Given the description of an element on the screen output the (x, y) to click on. 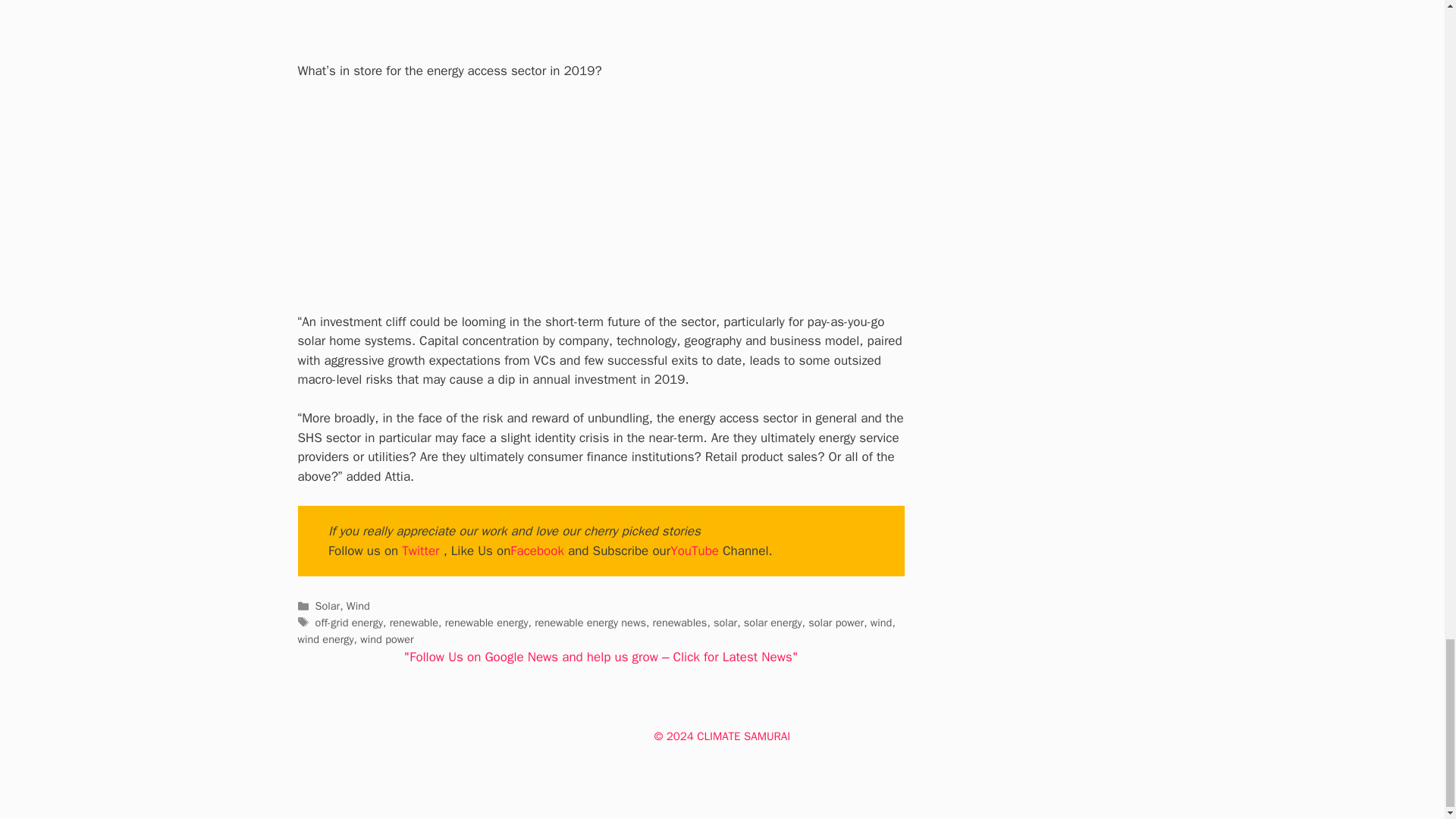
Wind (357, 605)
renewable energy (486, 622)
YouTube (694, 550)
Advertisement (618, 30)
renewable energy news (590, 622)
Facebook (537, 550)
Twitter (420, 550)
renewable (414, 622)
off-grid energy (348, 622)
